Given the description of an element on the screen output the (x, y) to click on. 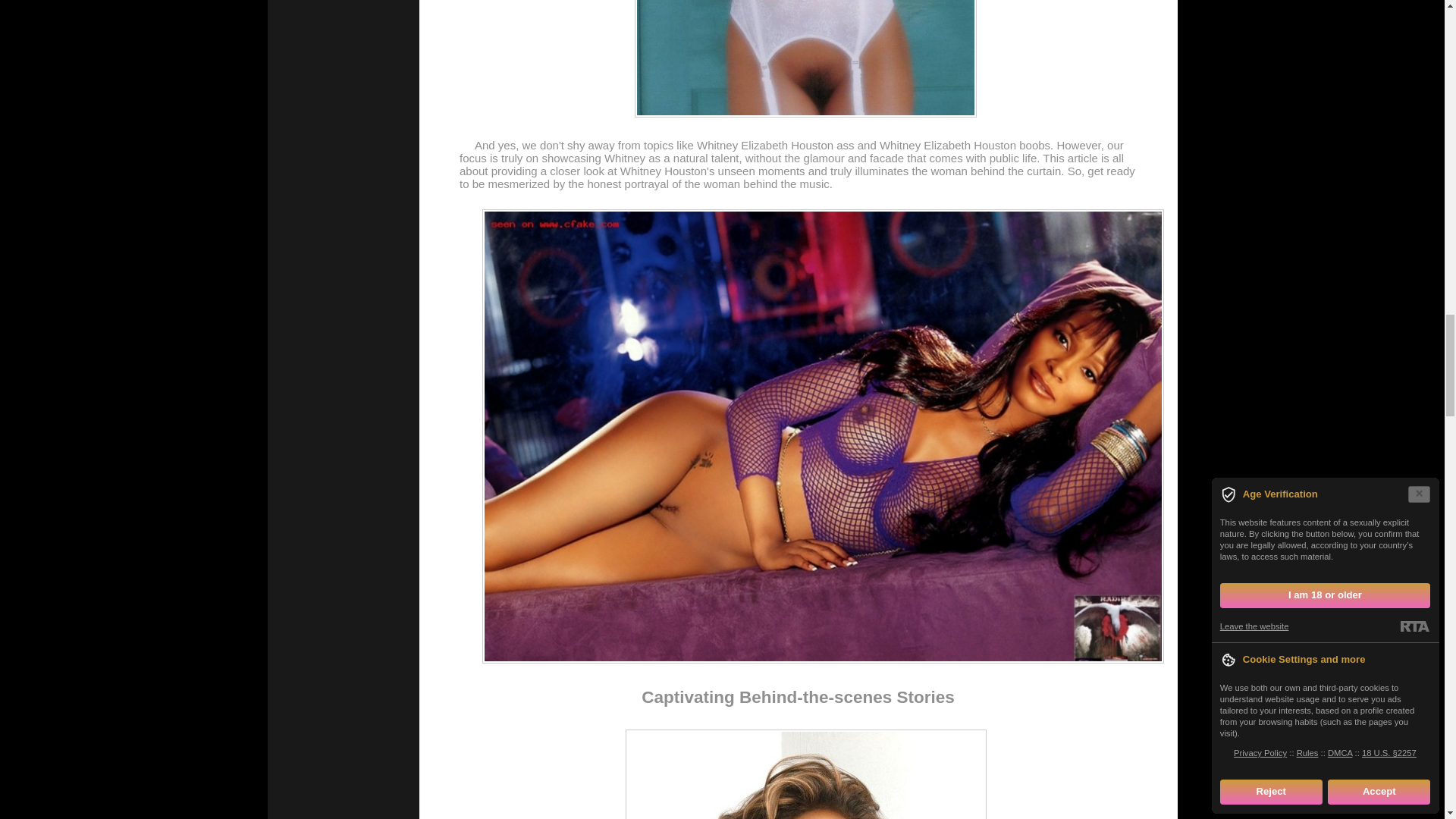
Whitney Elizabeth Houston photos between the legs (804, 774)
Whitney Elizabeth Houston naked 86 (805, 58)
